Given the description of an element on the screen output the (x, y) to click on. 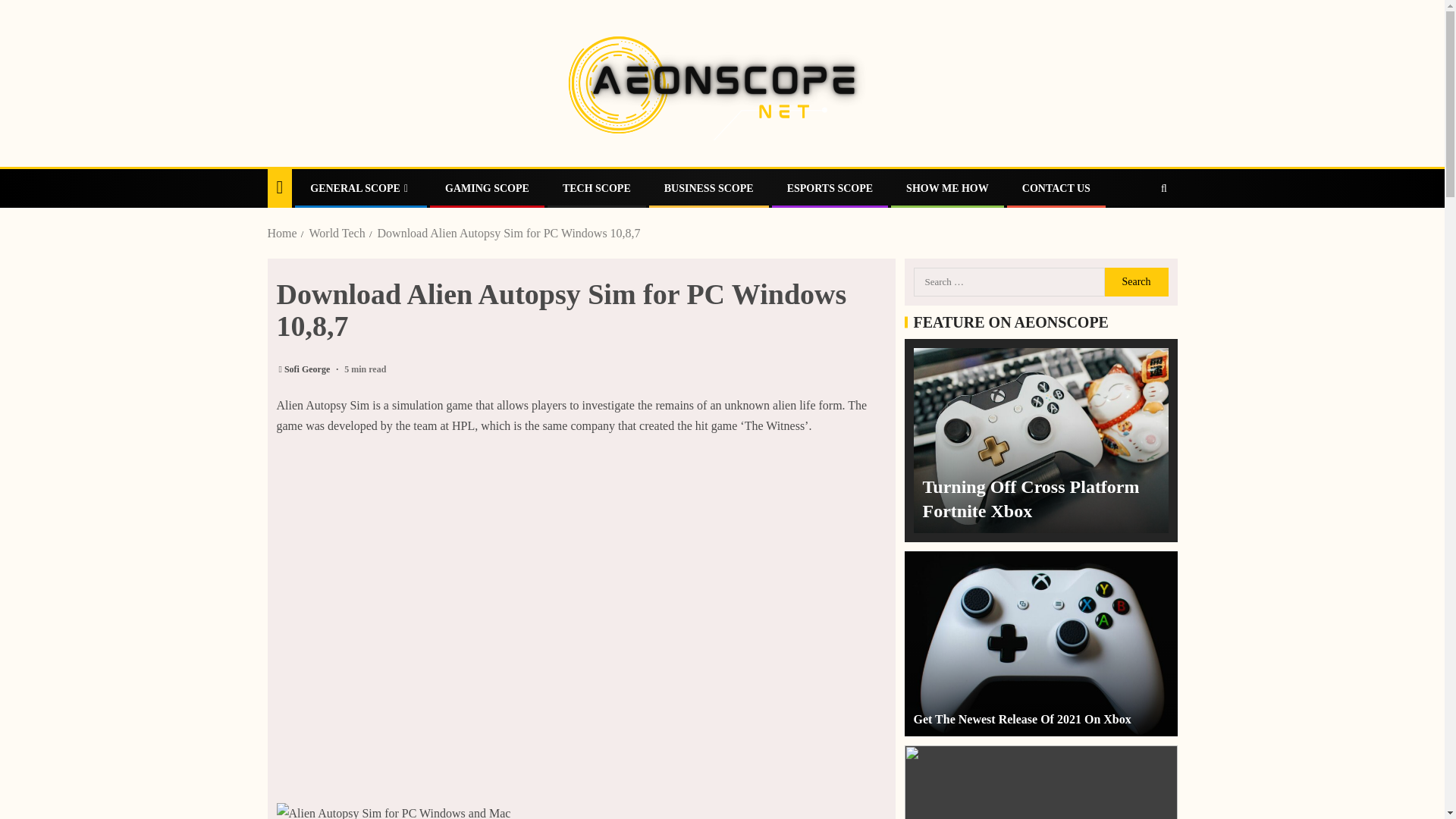
ESPORTS SCOPE (829, 188)
World Tech (336, 232)
Search (1135, 281)
Search (1133, 234)
SHOW ME HOW (946, 188)
Download Alien Autopsy Sim for PC Windows 10,8,7 (508, 232)
BUSINESS SCOPE (708, 188)
GENERAL SCOPE (361, 188)
Search (1135, 281)
Home (281, 232)
